Given the description of an element on the screen output the (x, y) to click on. 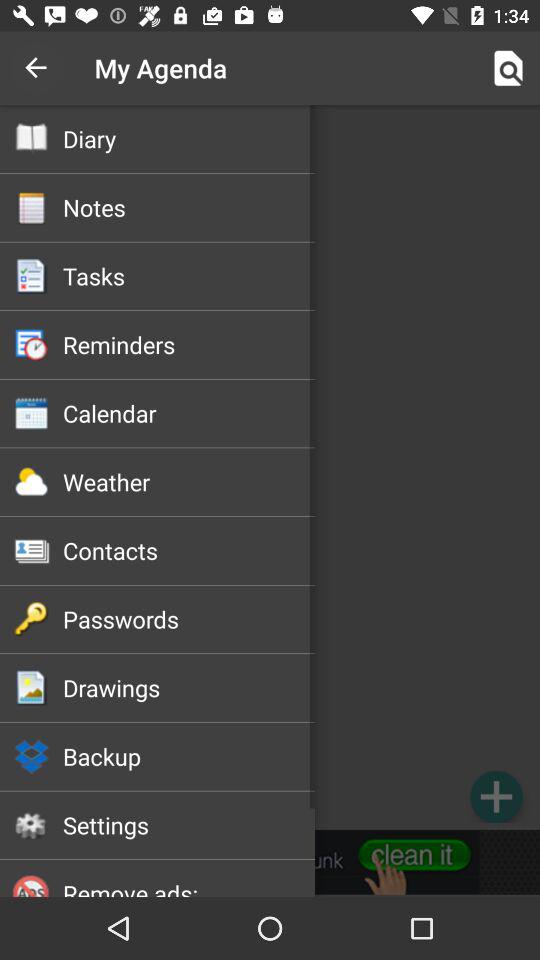
select option (269, 467)
